Given the description of an element on the screen output the (x, y) to click on. 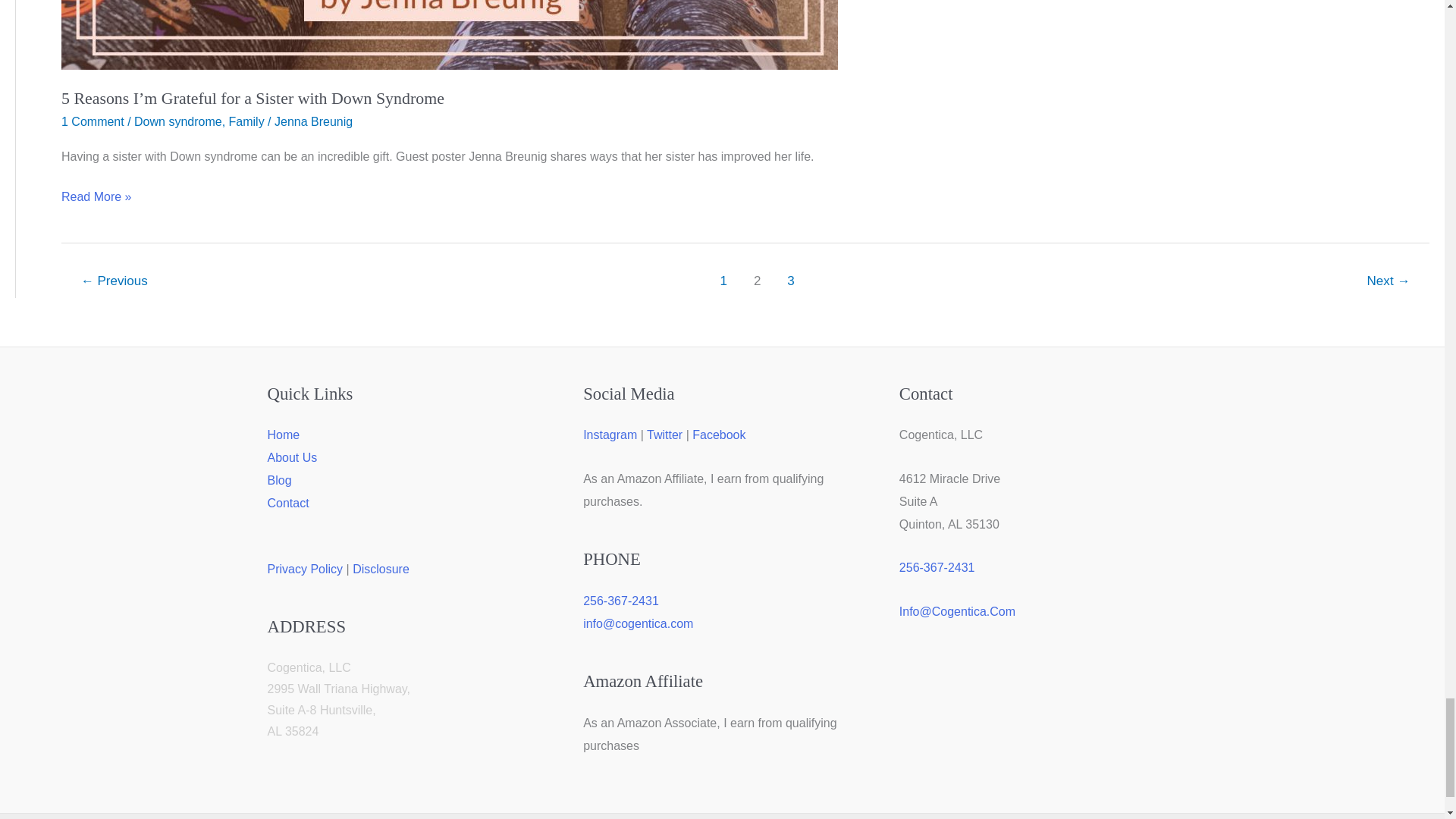
View all posts by Jenna Breunig (313, 121)
